Given the description of an element on the screen output the (x, y) to click on. 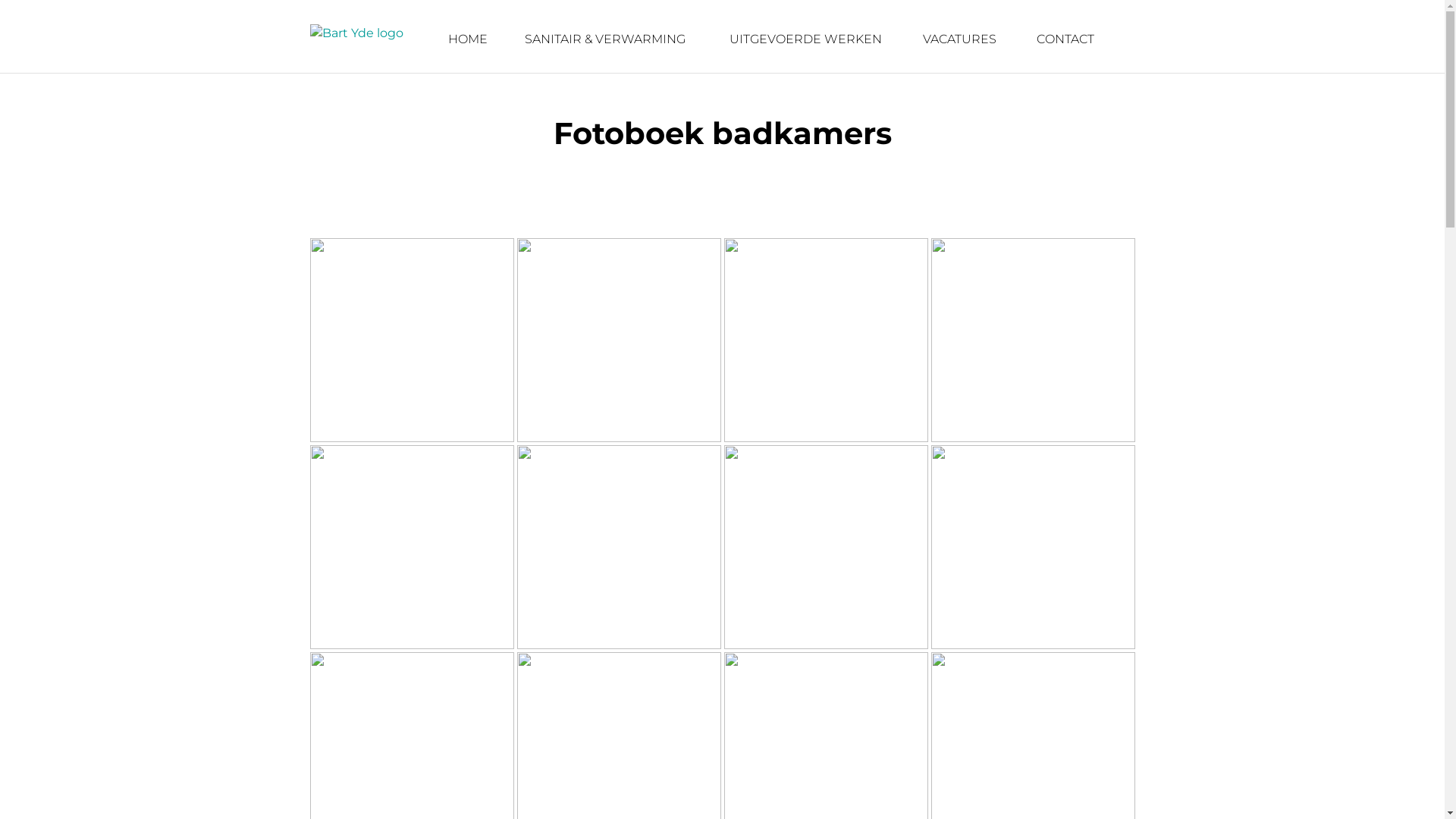
HOME Element type: text (467, 39)
VACATURES Element type: text (960, 39)
CONTACT Element type: text (1066, 39)
SANITAIR & VERWARMING Element type: text (608, 39)
UITGEVOERDE WERKEN Element type: text (807, 39)
